Given the description of an element on the screen output the (x, y) to click on. 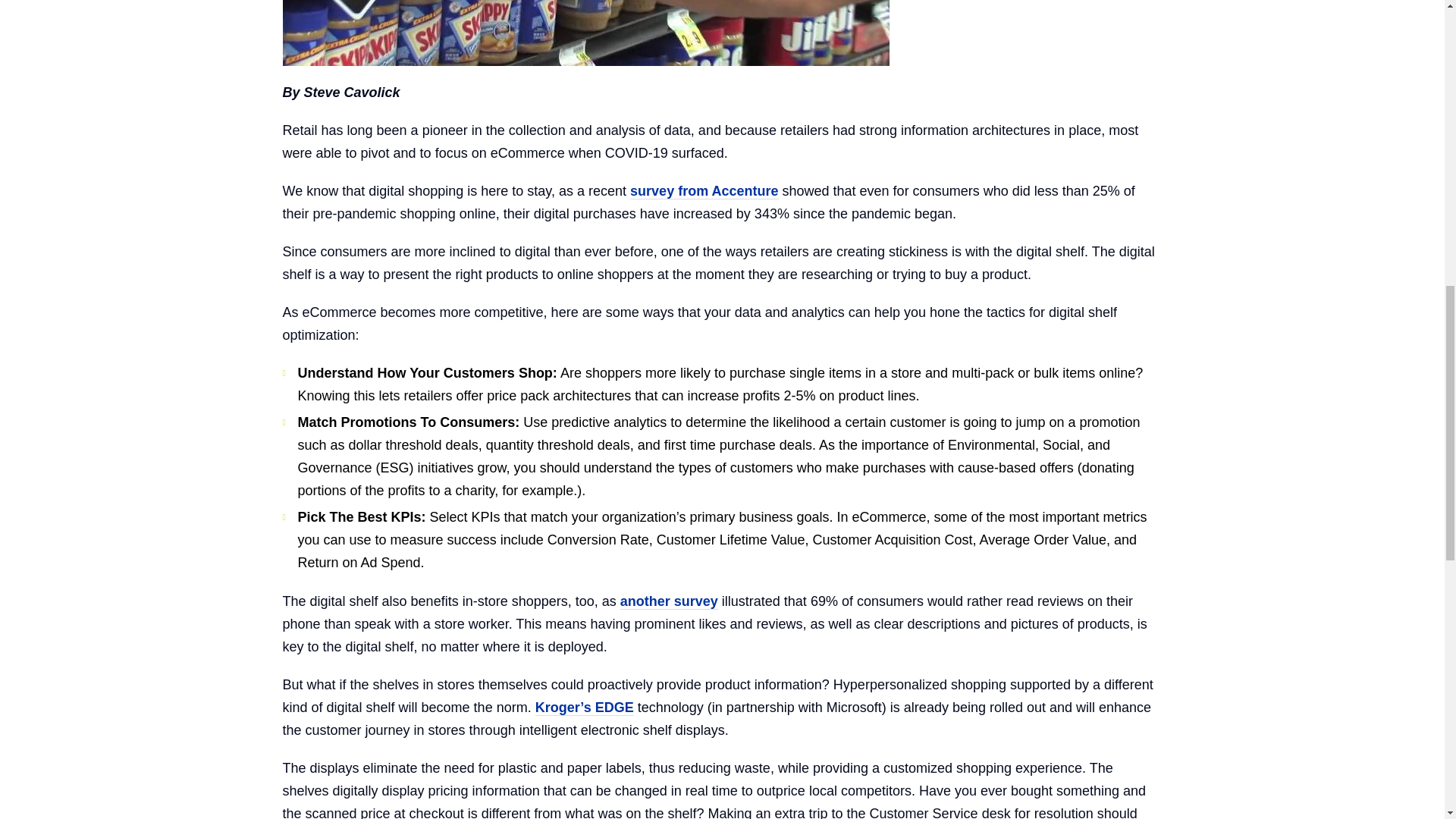
survey from Accenture (703, 191)
another survey (668, 601)
